Given the description of an element on the screen output the (x, y) to click on. 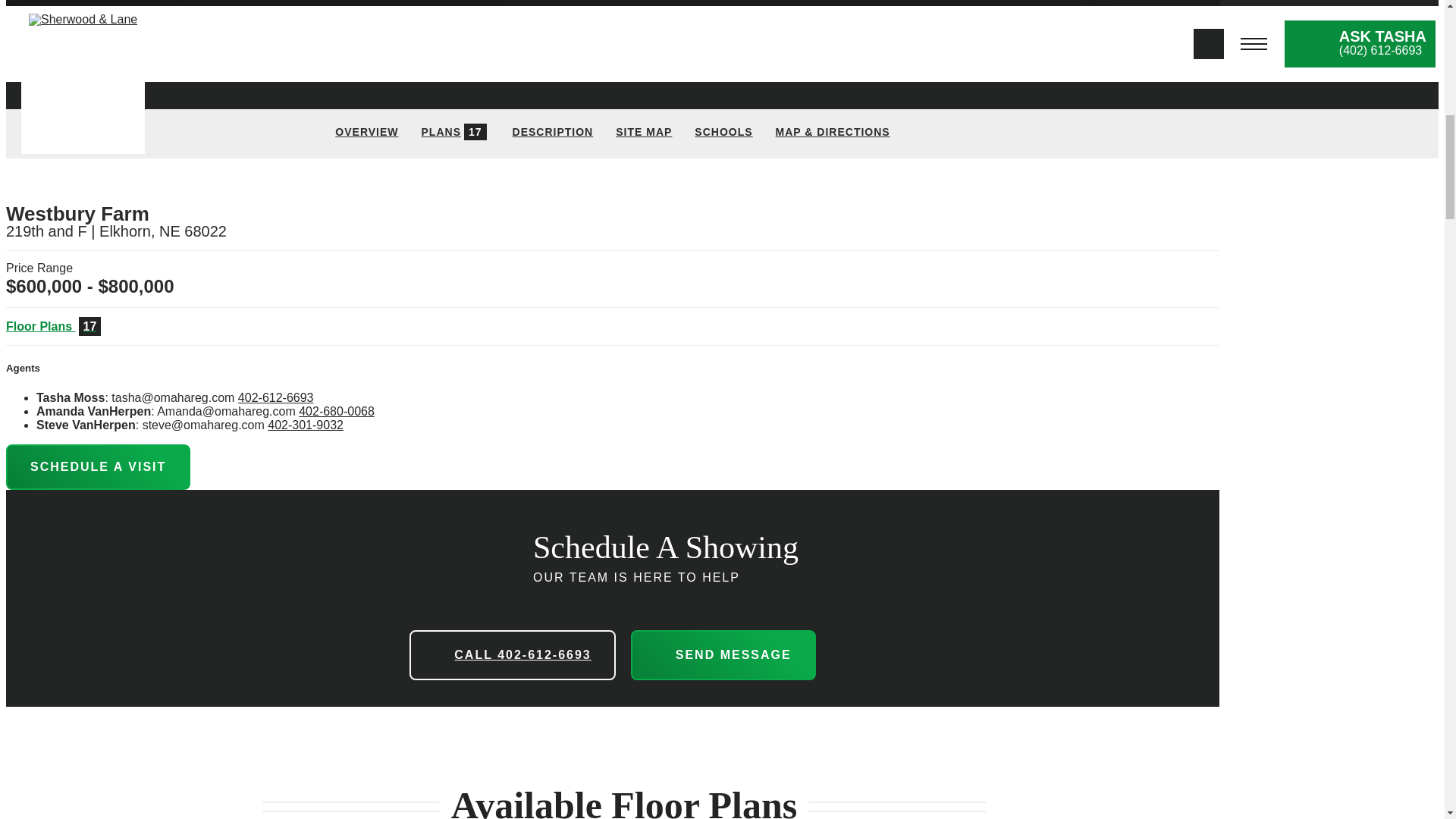
DESCRIPTION (552, 133)
402-612-6693 (276, 397)
OVERVIEW (366, 133)
402-301-9032 (305, 424)
CALL 402-612-6693 (511, 654)
SCHOOLS (722, 133)
Floor Plans 17 (455, 133)
402-680-0068 (54, 326)
SITE MAP (336, 410)
